Given the description of an element on the screen output the (x, y) to click on. 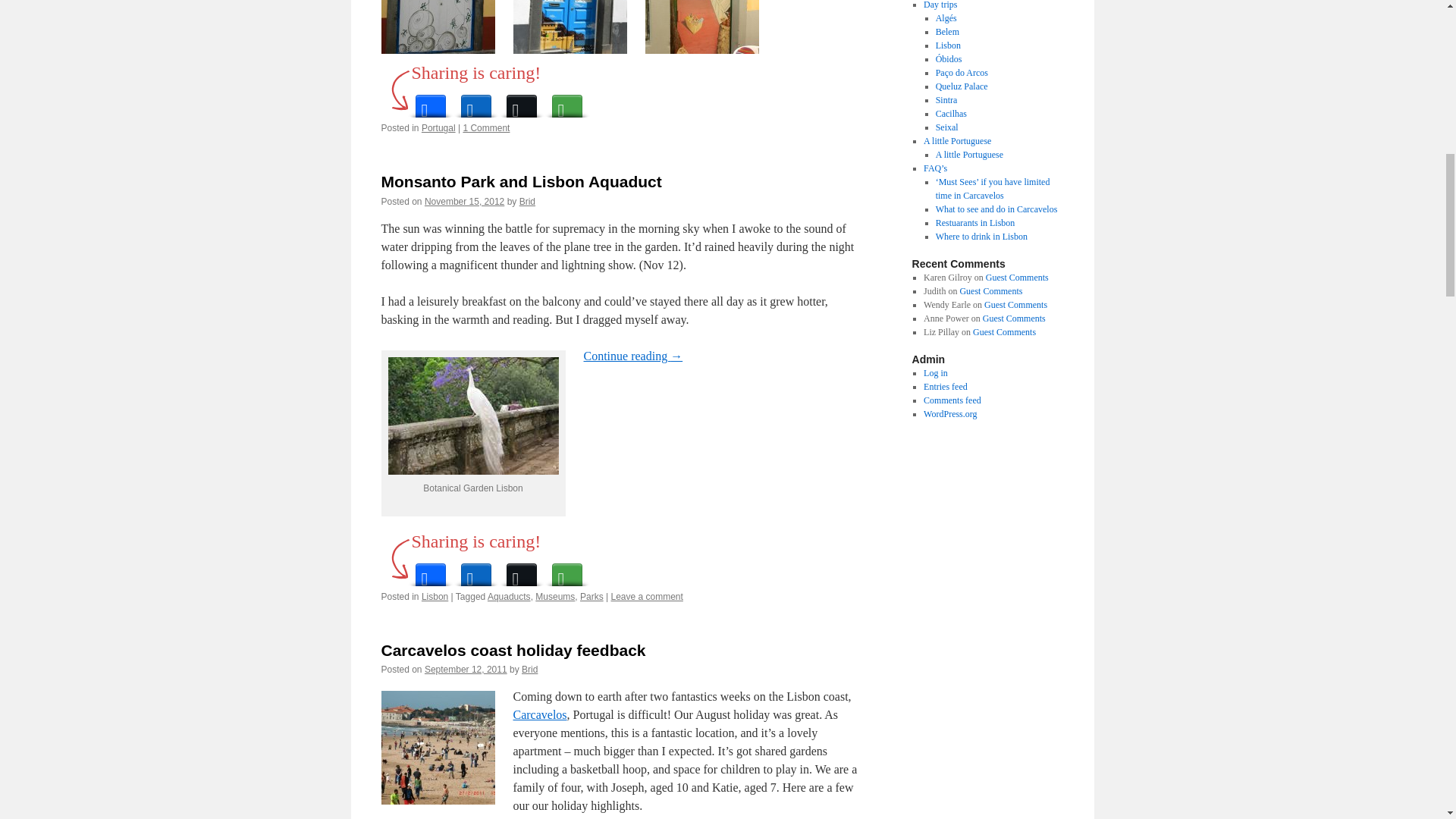
More Options (566, 102)
Facebook (429, 570)
View all posts by Brid (527, 201)
17:03 (464, 201)
Facebook (429, 102)
View all posts by Brid (529, 669)
LinkedIn (475, 102)
LinkedIn (475, 570)
19:39 (465, 669)
More Options (566, 570)
